Given the description of an element on the screen output the (x, y) to click on. 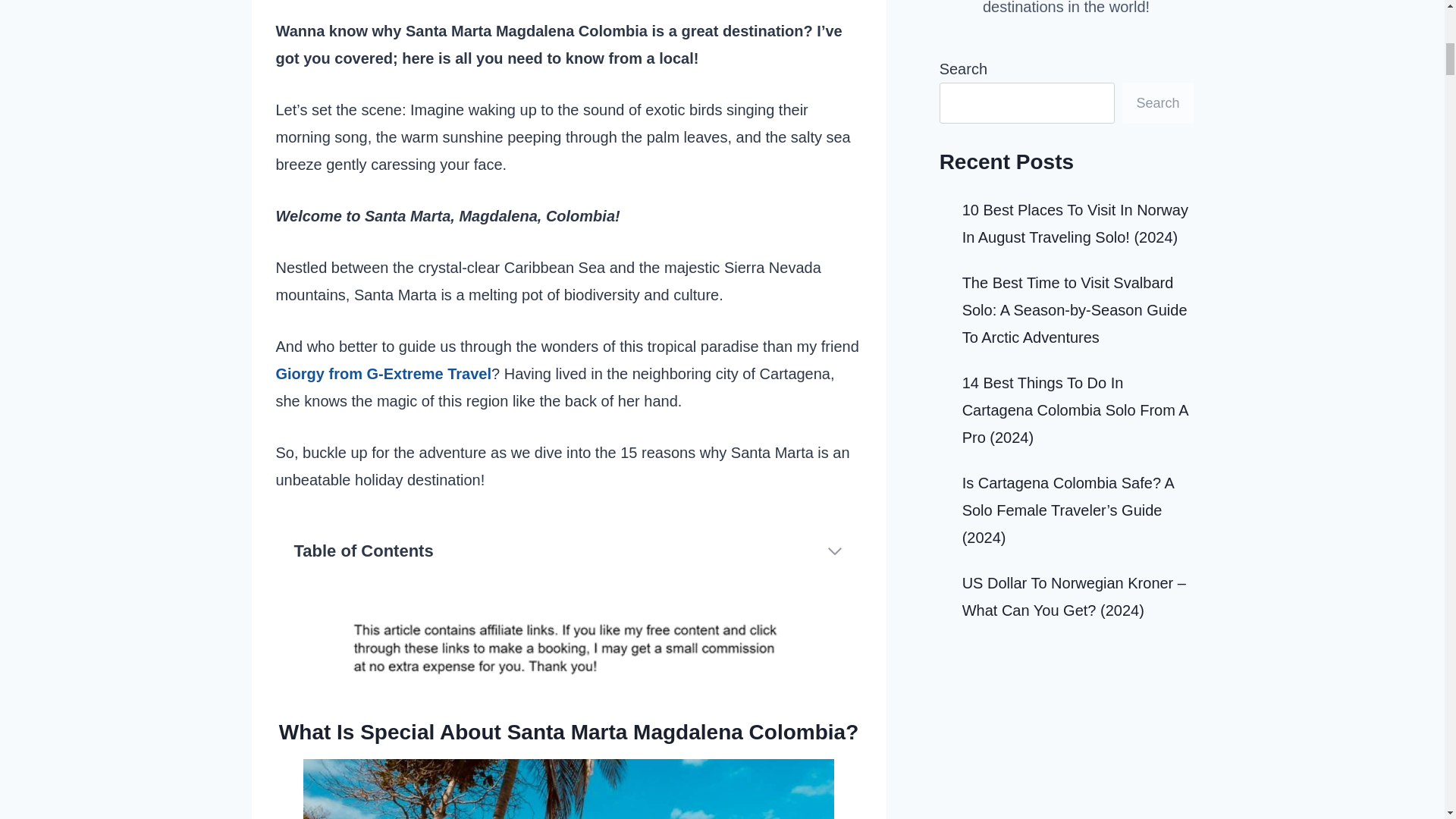
Giorgy from G-Extreme Travel (384, 373)
